Given the description of an element on the screen output the (x, y) to click on. 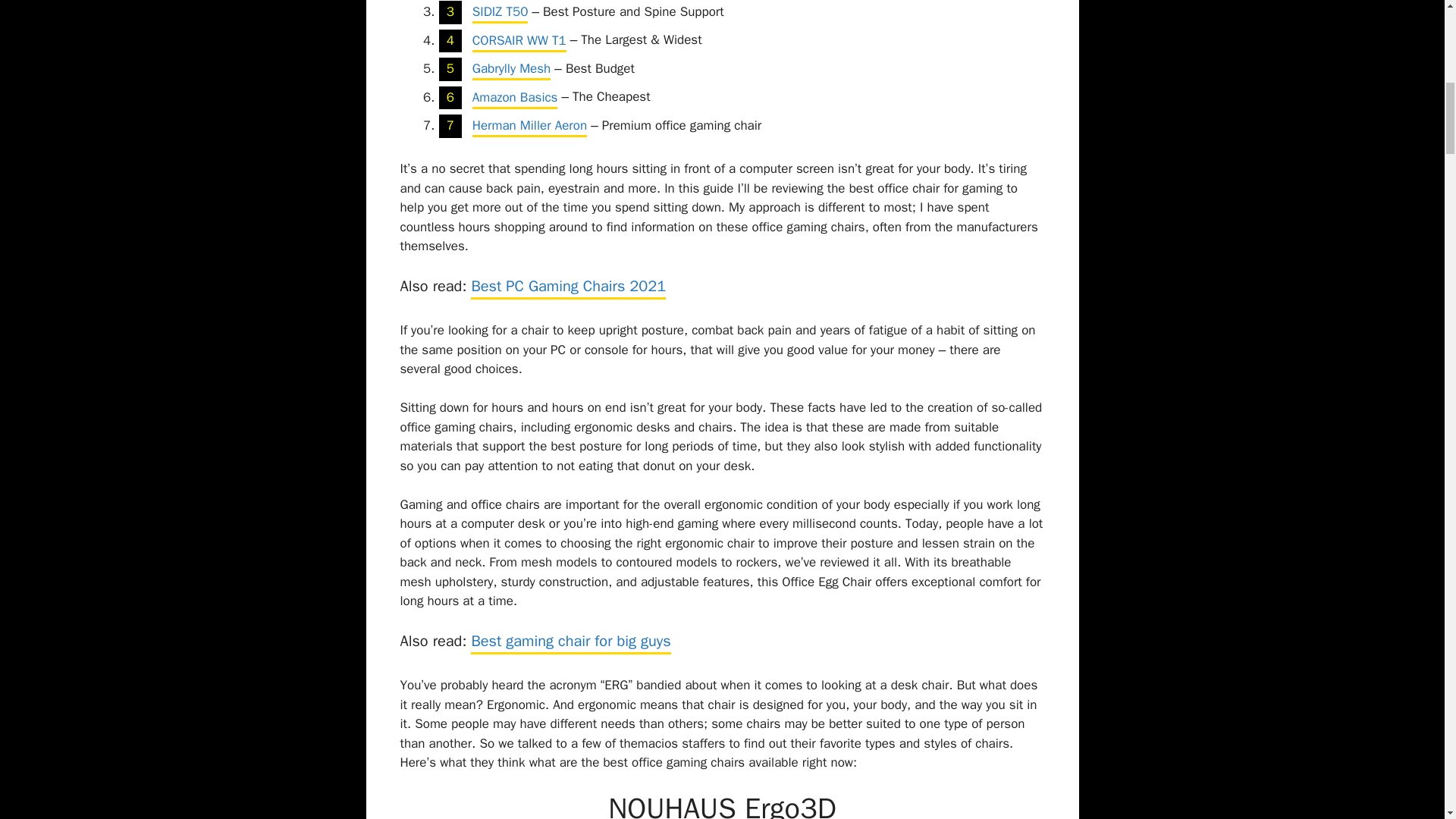
Scroll back to top (1406, 720)
